Given the description of an element on the screen output the (x, y) to click on. 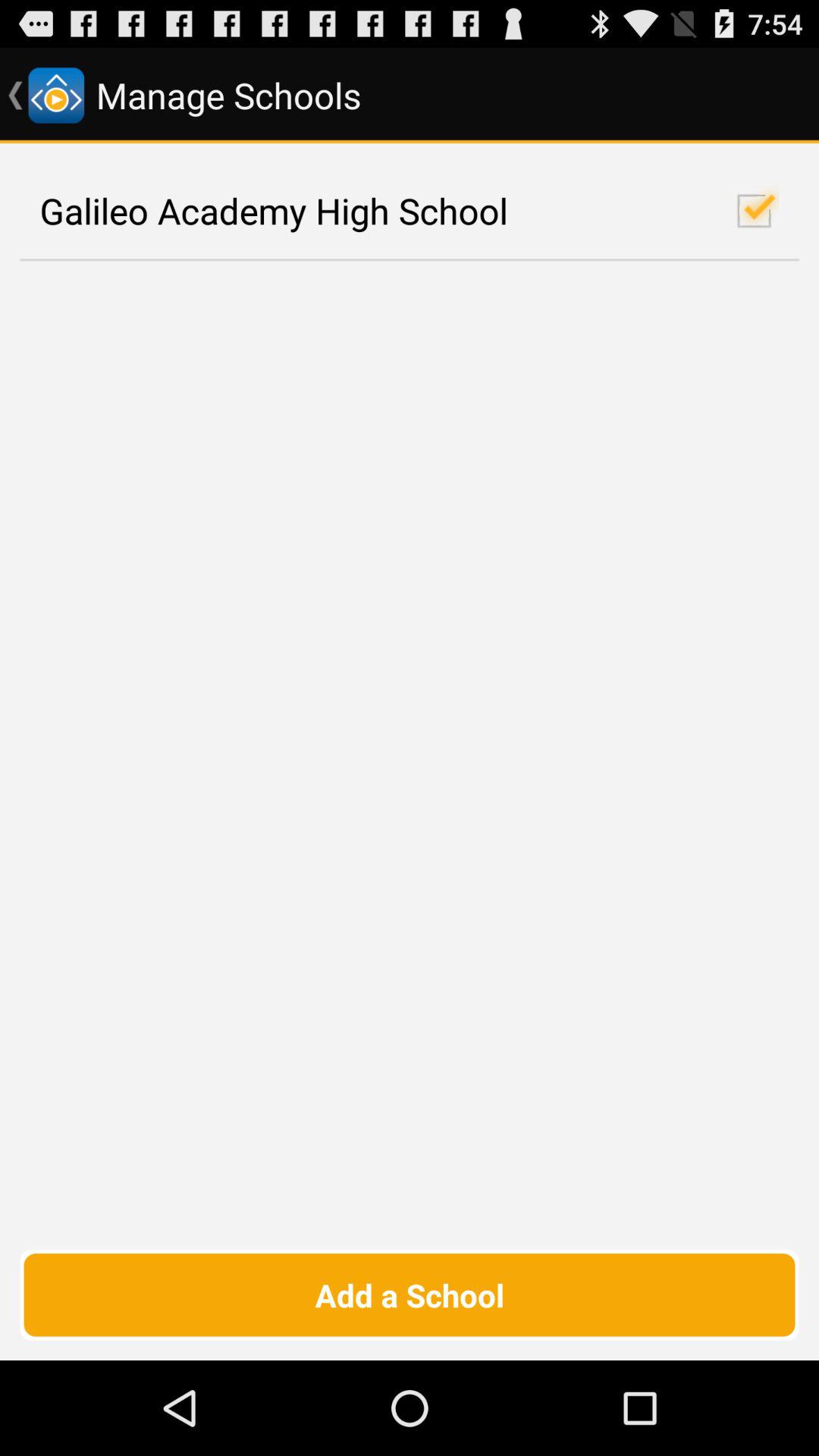
swipe to galileo academy high checkbox (409, 210)
